Given the description of an element on the screen output the (x, y) to click on. 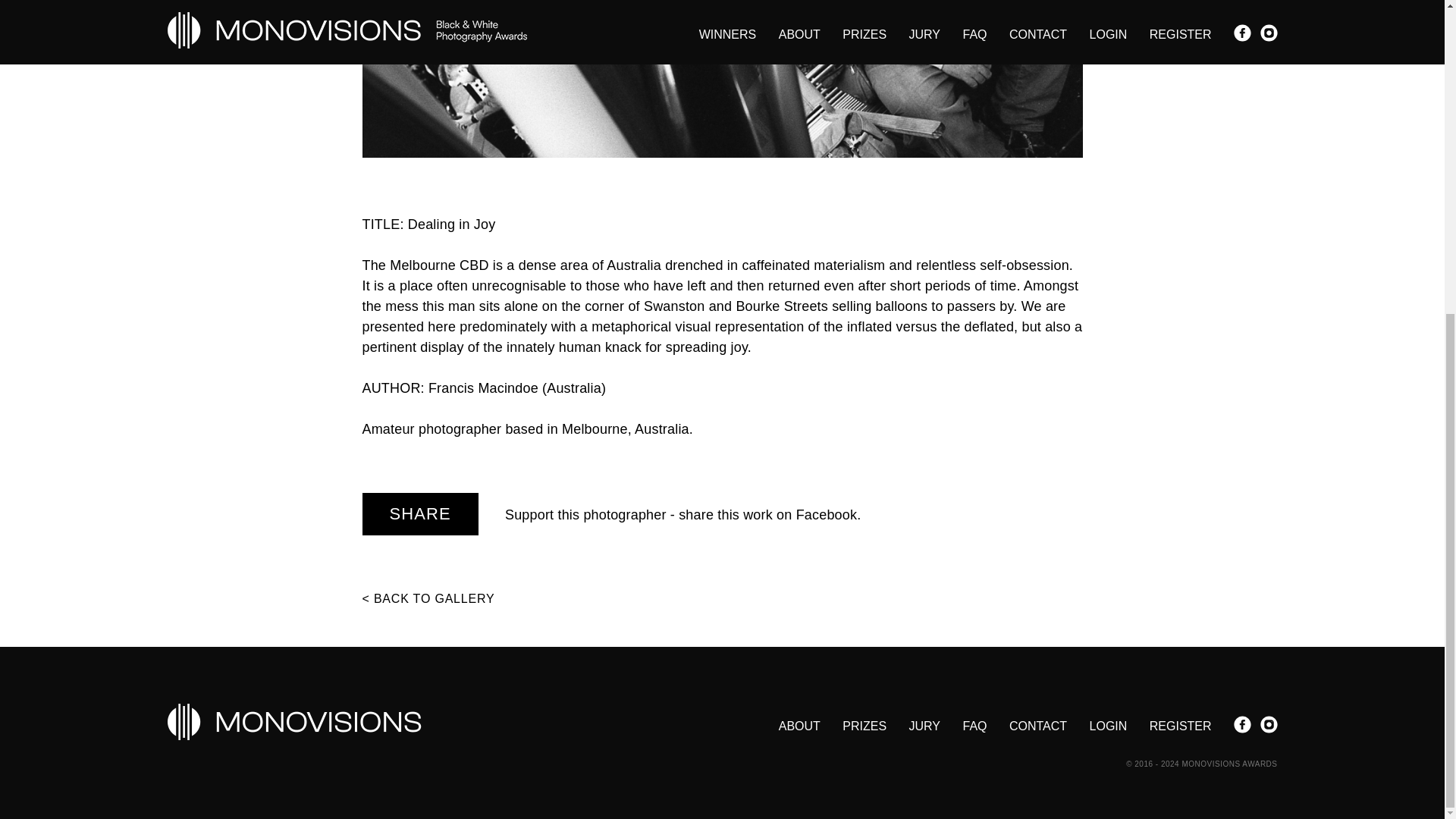
FAQ (974, 726)
SHARE (420, 514)
JURY (924, 726)
REGISTER (1180, 726)
LOGIN (1107, 726)
CONTACT (1038, 726)
ABOUT (799, 726)
PRIZES (864, 726)
